Given the description of an element on the screen output the (x, y) to click on. 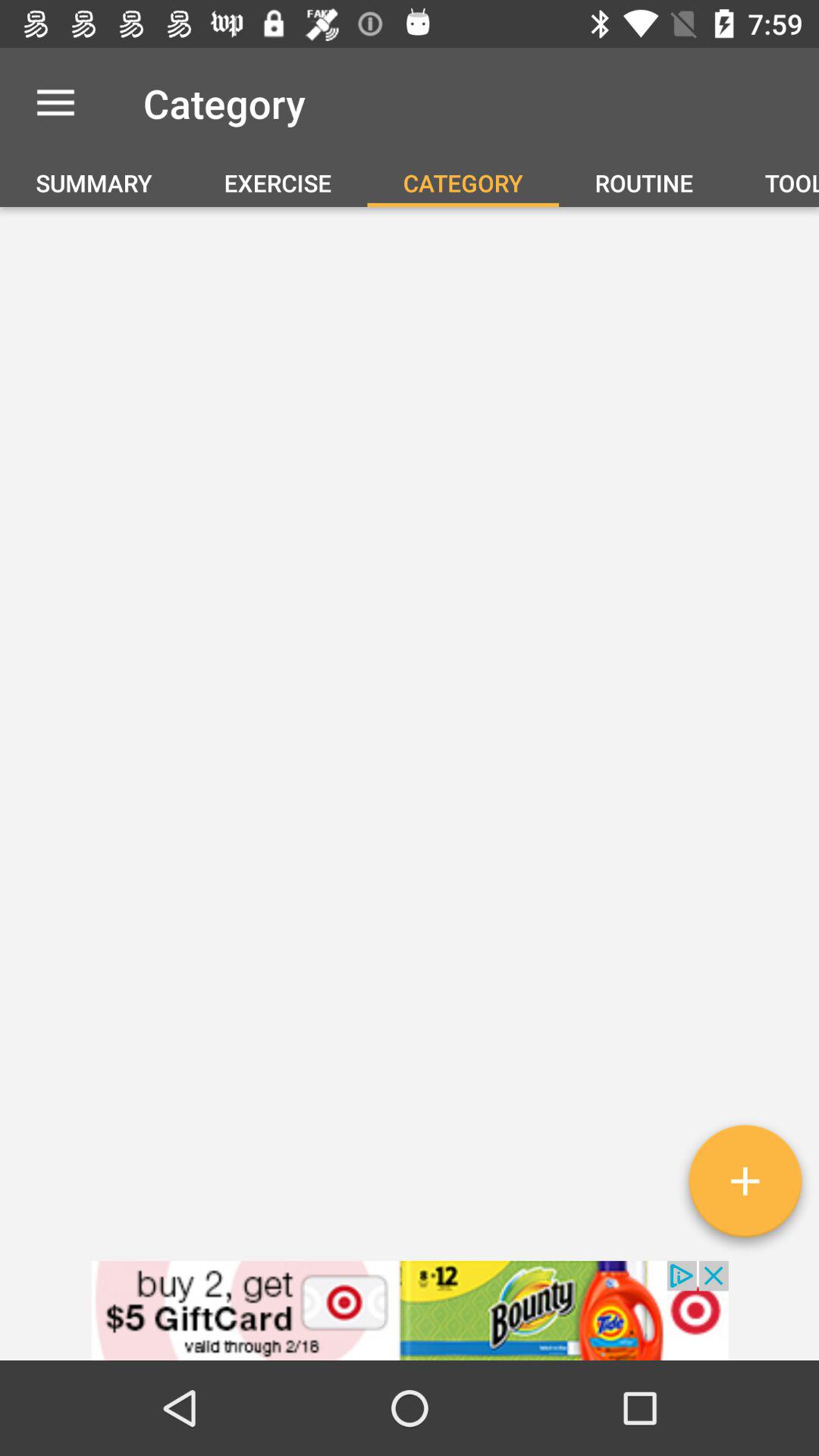
add button (745, 1186)
